Given the description of an element on the screen output the (x, y) to click on. 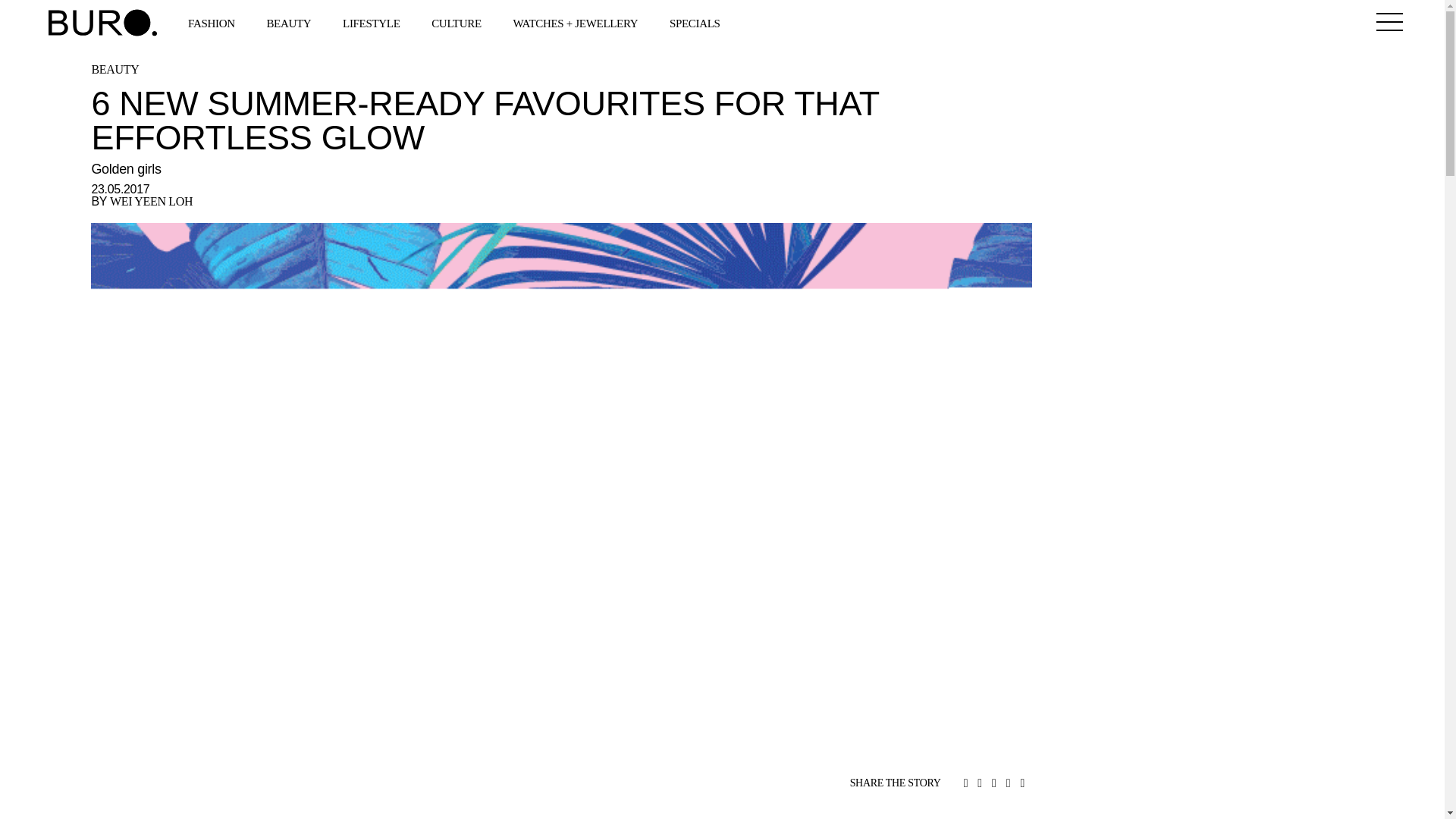
Copy URL (965, 783)
Email (1022, 783)
Share on WhatsApp (993, 783)
Share on Pinterest (1008, 783)
Share on Facebook (978, 783)
